Given the description of an element on the screen output the (x, y) to click on. 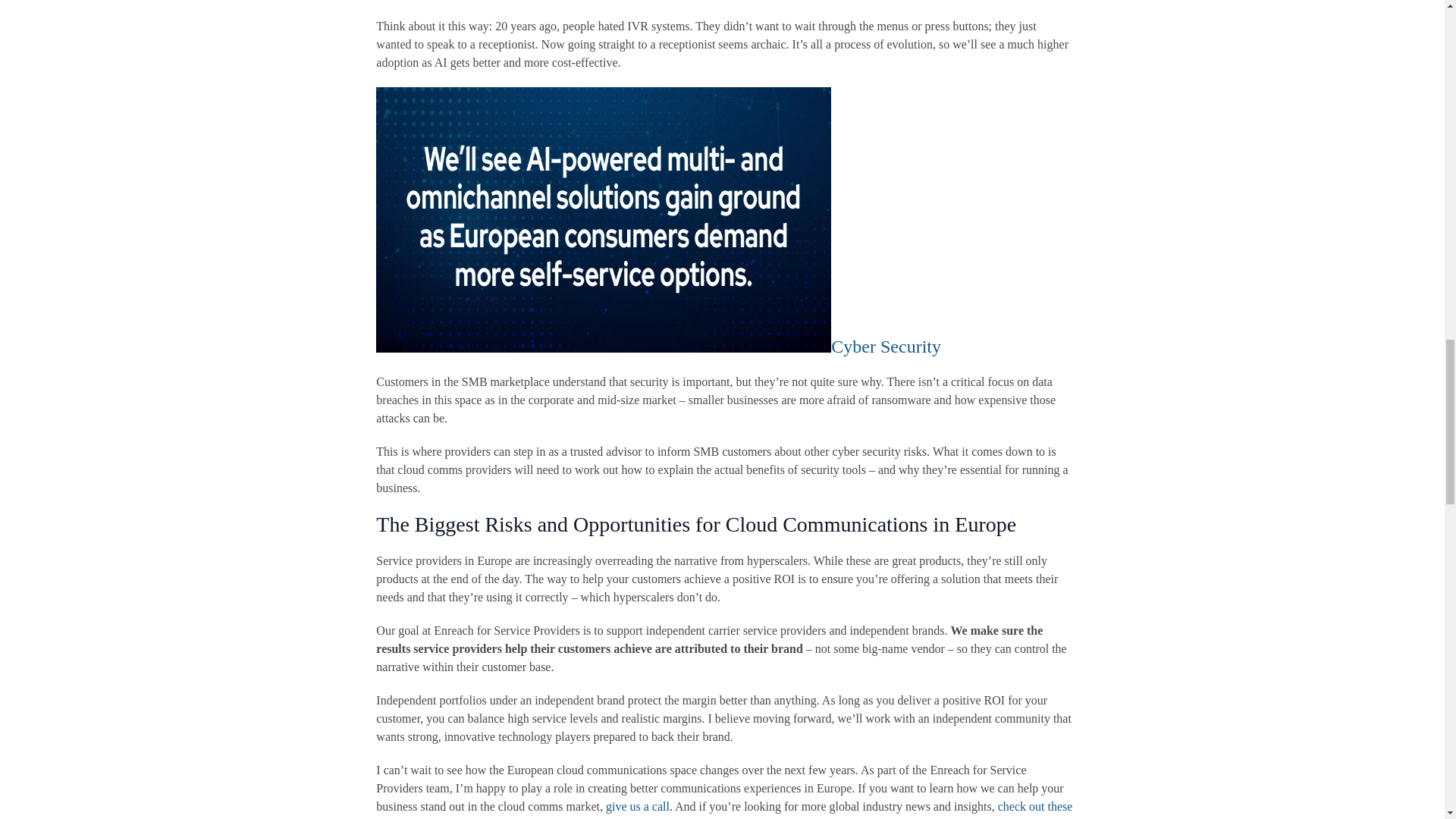
check out these articles (723, 809)
give us a call (637, 806)
